Given the description of an element on the screen output the (x, y) to click on. 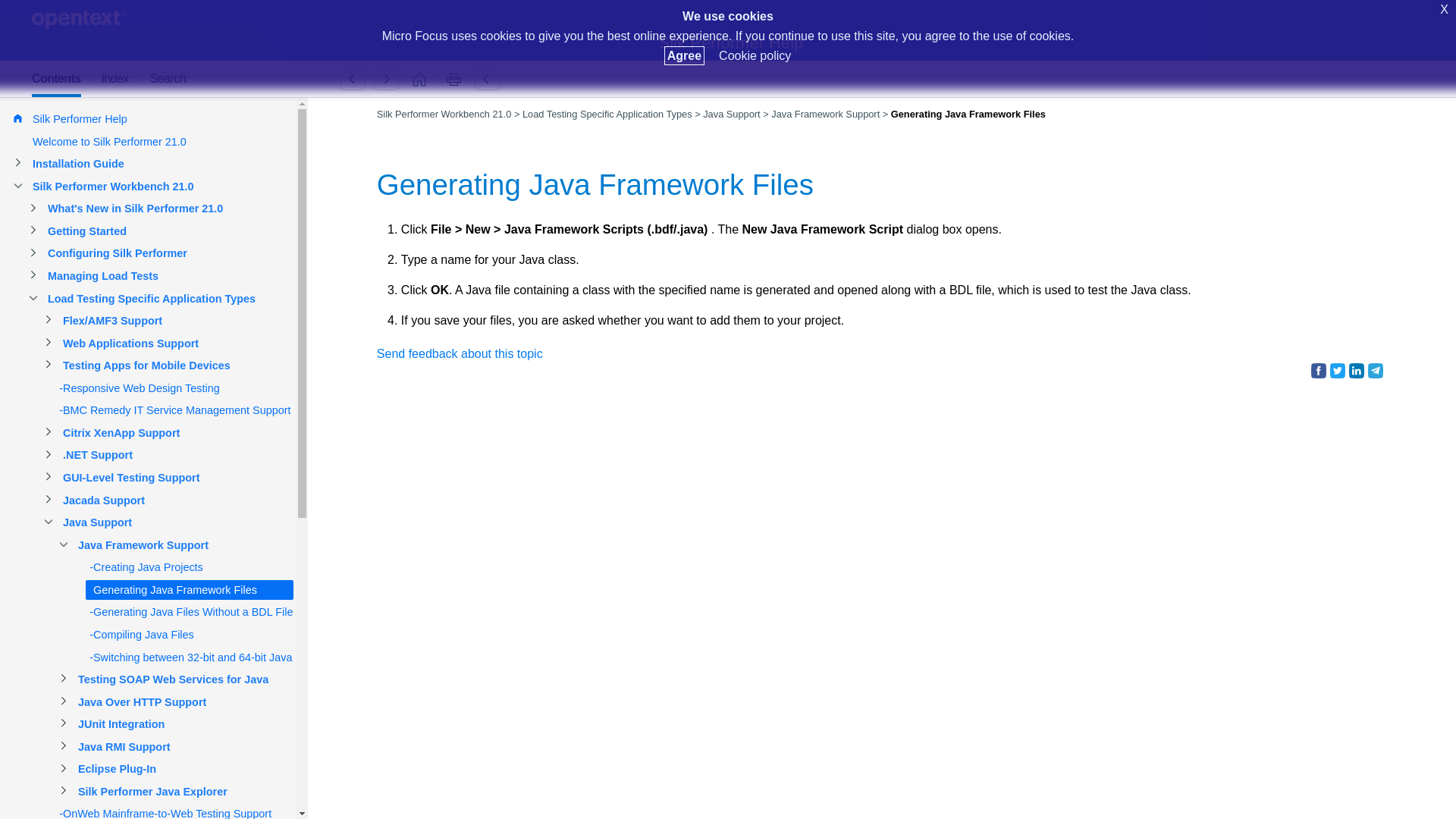
Generating Java Files Without a BDL File (386, 78)
Cookie policy (754, 55)
Agree (684, 55)
Creating Java Projects (352, 78)
